Given the description of an element on the screen output the (x, y) to click on. 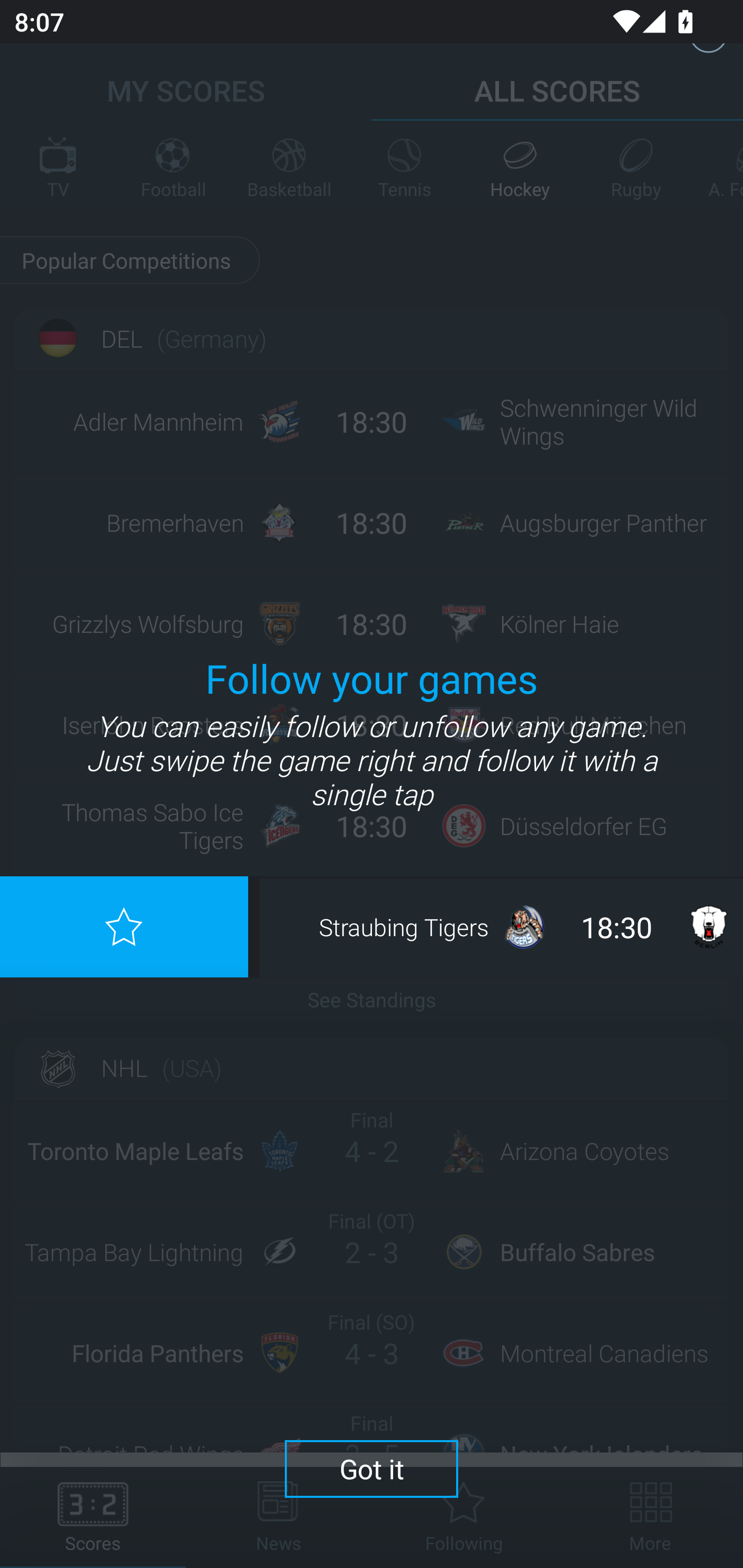
Straubing Tigers 18:30 Eisbären Berlin (502, 926)
Got it (371, 1468)
